Given the description of an element on the screen output the (x, y) to click on. 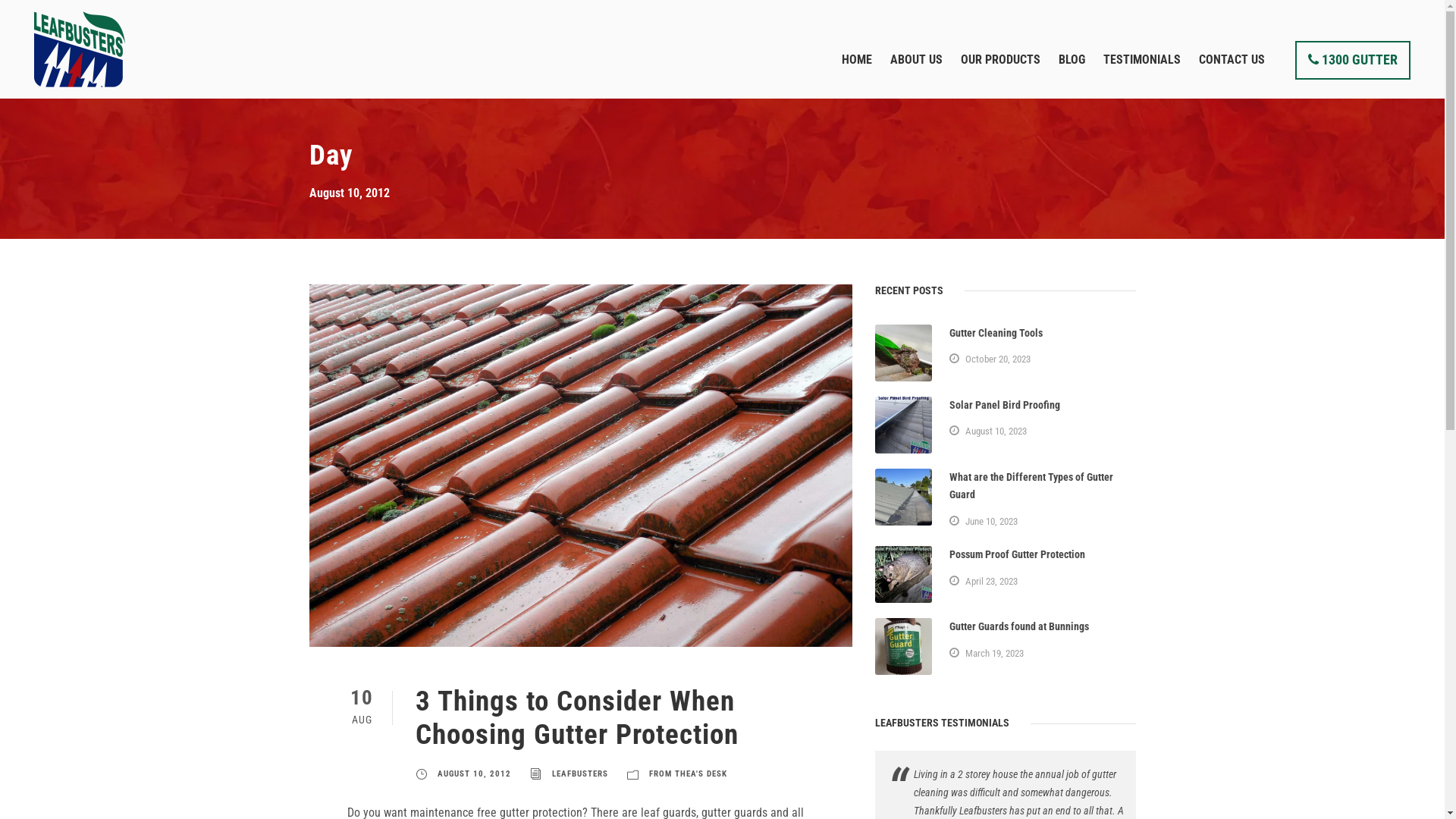
August 10, 2023 Element type: text (995, 430)
HOME Element type: text (856, 73)
leafbusters-logo-main Element type: hover (79, 49)
1300 GUTTER Element type: text (1352, 59)
OUR PRODUCTS Element type: text (1000, 73)
FROM THEA'S DESK Element type: text (688, 773)
CONTACT US Element type: text (1231, 73)
Solar Panel Bird Proofing Element type: hover (903, 424)
Old gutter guard from Bunnings Element type: hover (903, 646)
Possum Proof Gutter Protection Element type: text (1017, 554)
ABOUT US Element type: text (916, 73)
3 Things to Consider When Choosing Gutter Protection Element type: text (576, 717)
AUGUST 10, 2012 Element type: text (473, 773)
Gutter Cleaning Tools scoop Element type: hover (903, 352)
Gutter Guards found at Bunnings Element type: text (1018, 626)
TESTIMONIALS Element type: text (1141, 73)
BLOG Element type: text (1071, 73)
March 19, 2023 Element type: text (994, 652)
Possum Proof Gutter Protection Element type: hover (903, 574)
April 23, 2023 Element type: text (991, 580)
October 20, 2023 Element type: text (997, 358)
June 10, 2023 Element type: text (991, 521)
What are the Different Types of Gutter Guard Element type: text (1031, 485)
Gutter Cleaning Tools Element type: text (995, 332)
LEAFBUSTERS Element type: text (580, 773)
What are the different types of gutter guards Element type: hover (903, 496)
Solar Panel Bird Proofing Element type: text (1004, 404)
